Given the description of an element on the screen output the (x, y) to click on. 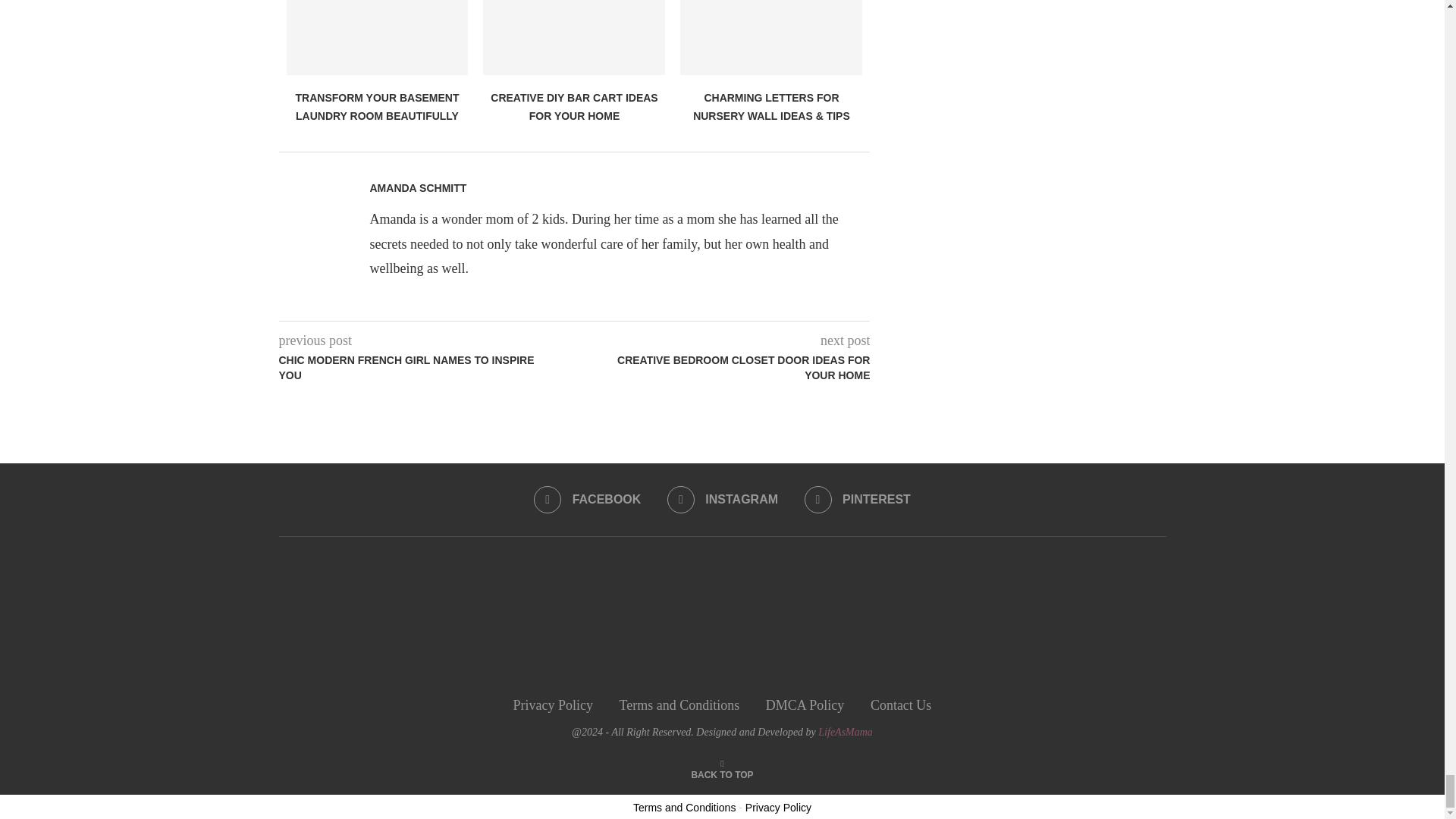
Creative DIY Bar Cart Ideas for Your Home (574, 37)
Transform Your Basement Laundry Room Beautifully (377, 37)
Author Amanda Schmitt (418, 187)
